Given the description of an element on the screen output the (x, y) to click on. 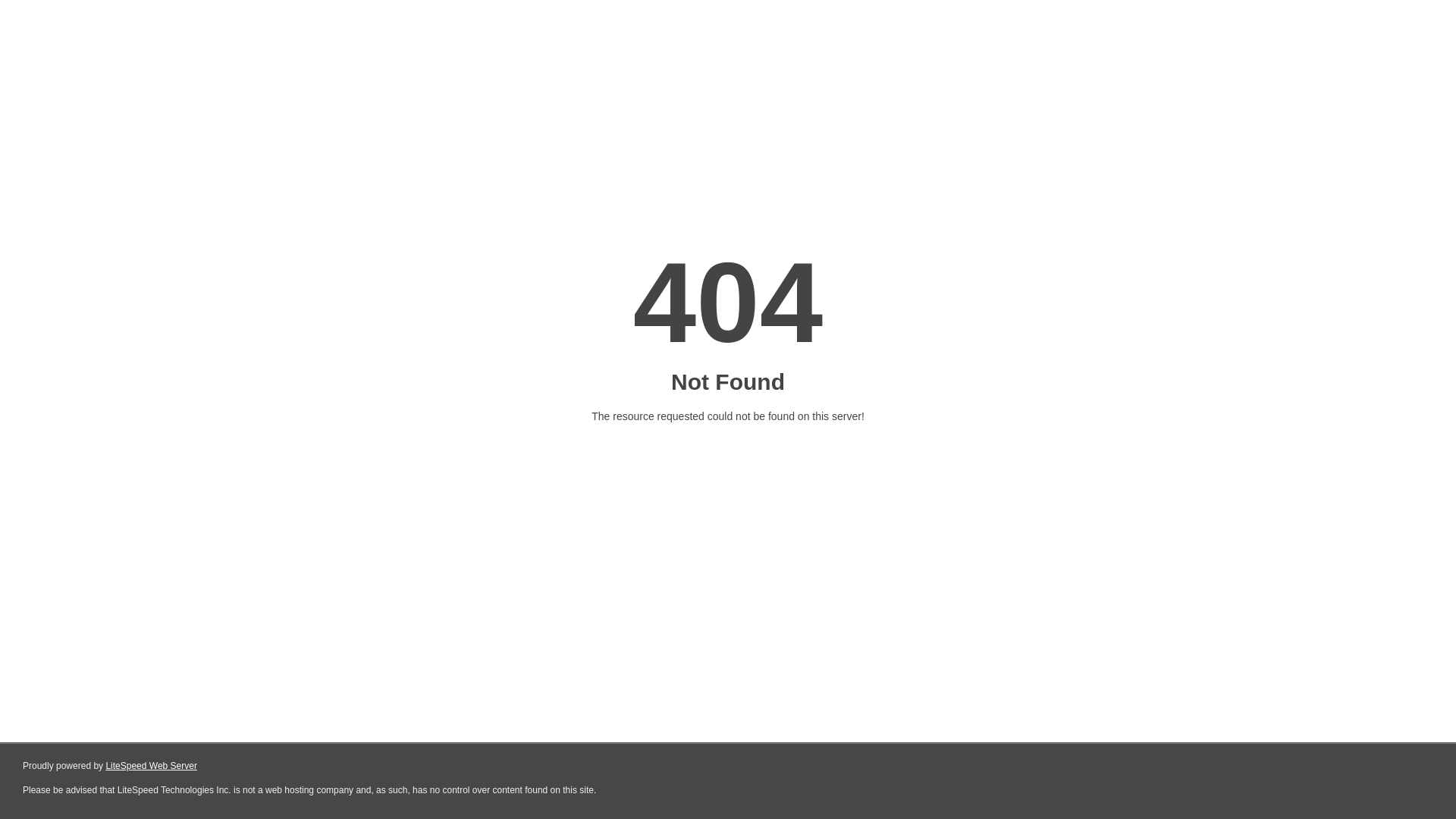
LiteSpeed Web Server Element type: text (151, 765)
